Given the description of an element on the screen output the (x, y) to click on. 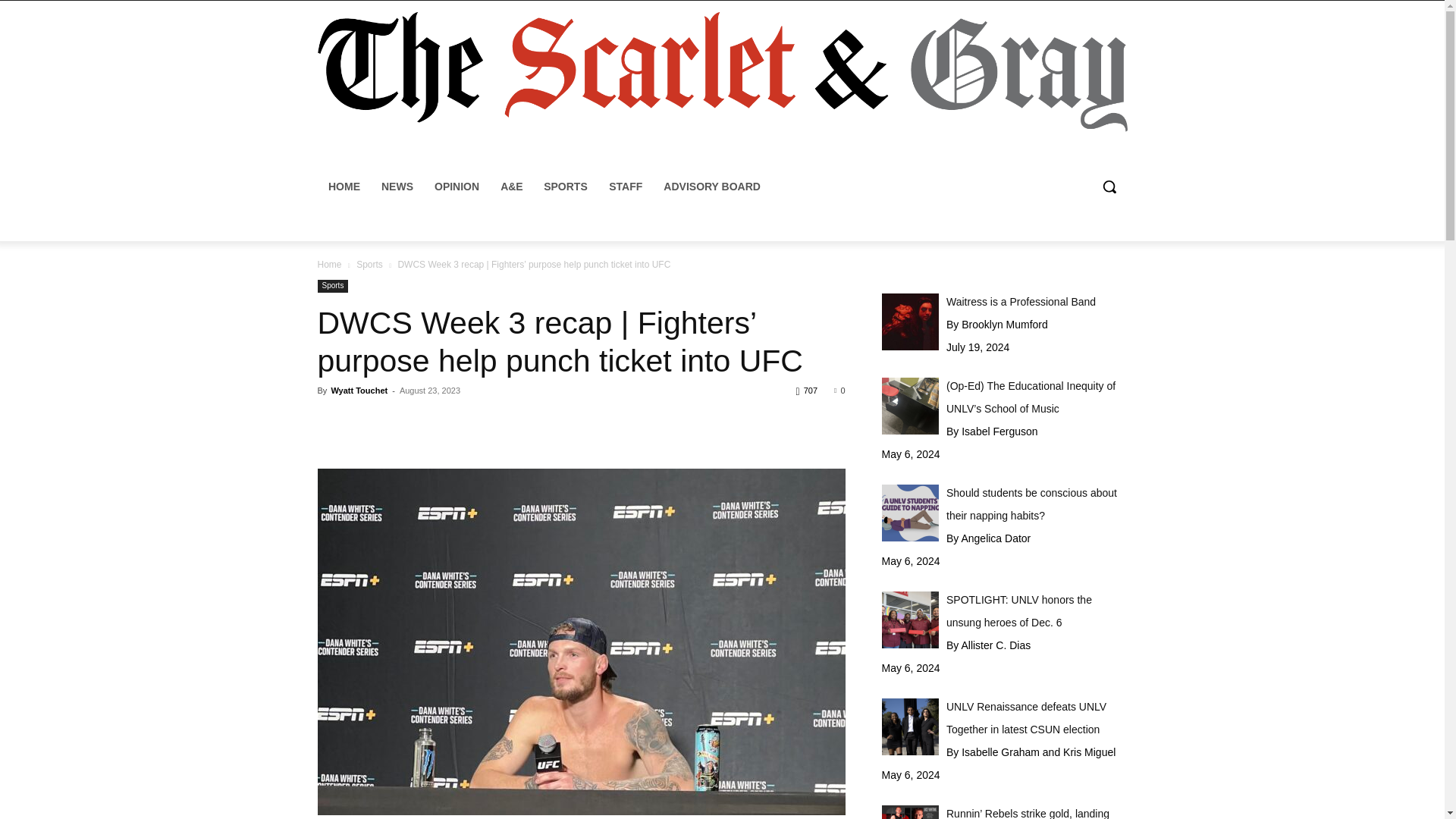
Home (328, 264)
SPORTS (565, 186)
OPINION (456, 186)
0 (839, 389)
ADVISORY BOARD (711, 186)
STAFF (625, 186)
HOME (343, 186)
Sports (332, 286)
NEWS (396, 186)
Wyatt Touchet (358, 389)
View all posts in Sports (369, 264)
Sports (369, 264)
